Given the description of an element on the screen output the (x, y) to click on. 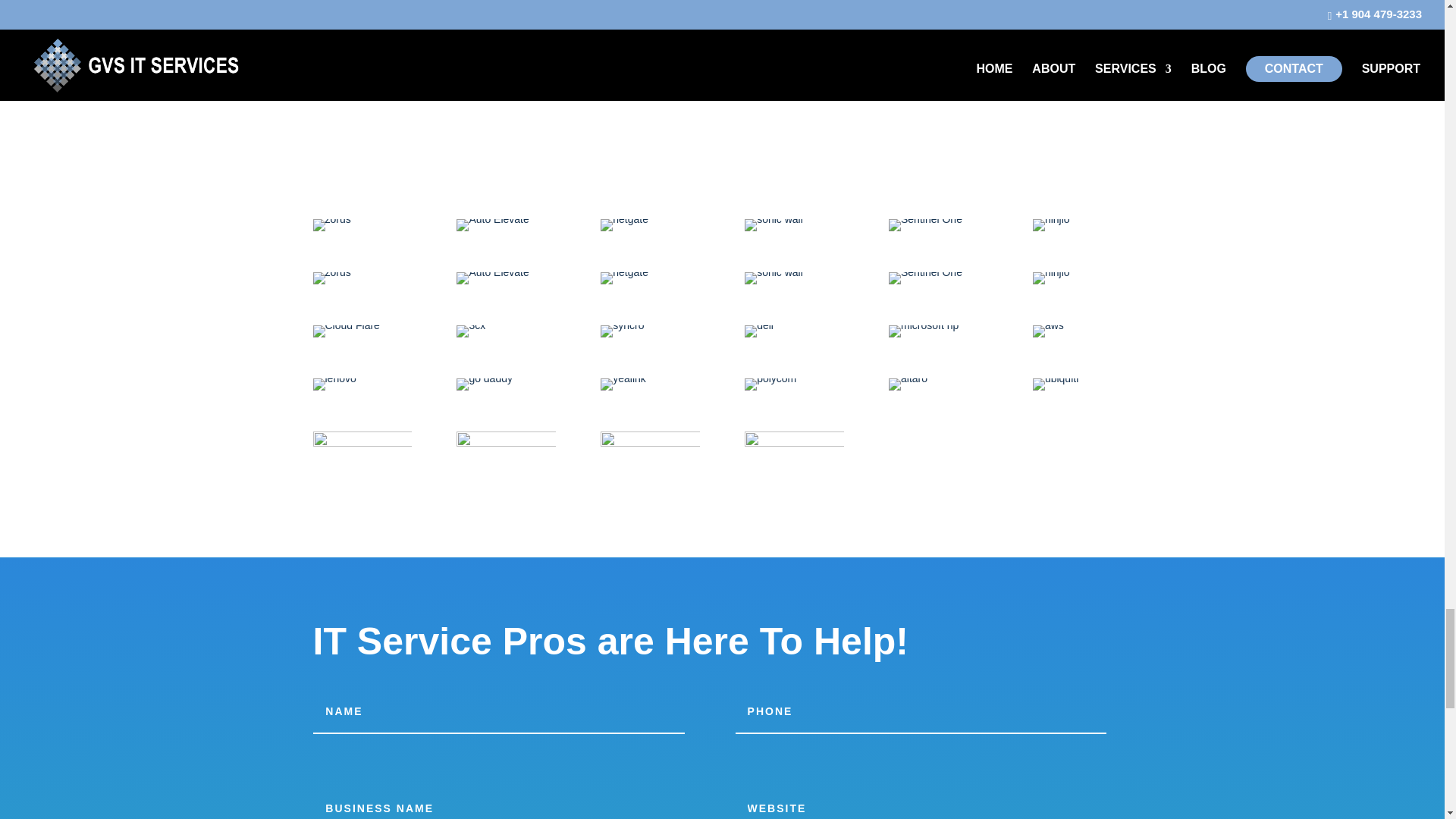
hudu logo (492, 224)
famouslogo (331, 224)
